Given the description of an element on the screen output the (x, y) to click on. 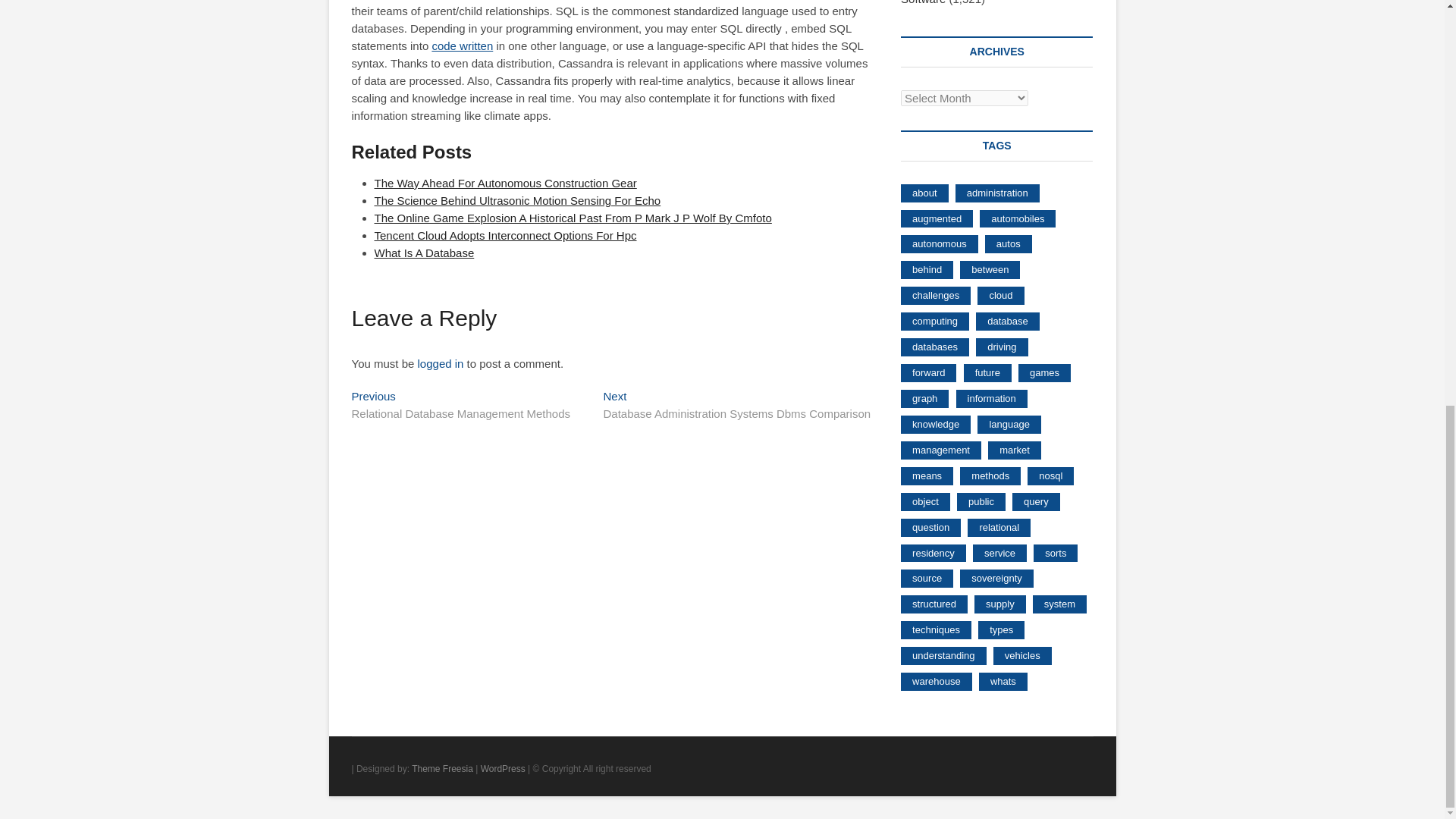
Theme Freesia (442, 768)
WordPress (502, 768)
